Given the description of an element on the screen output the (x, y) to click on. 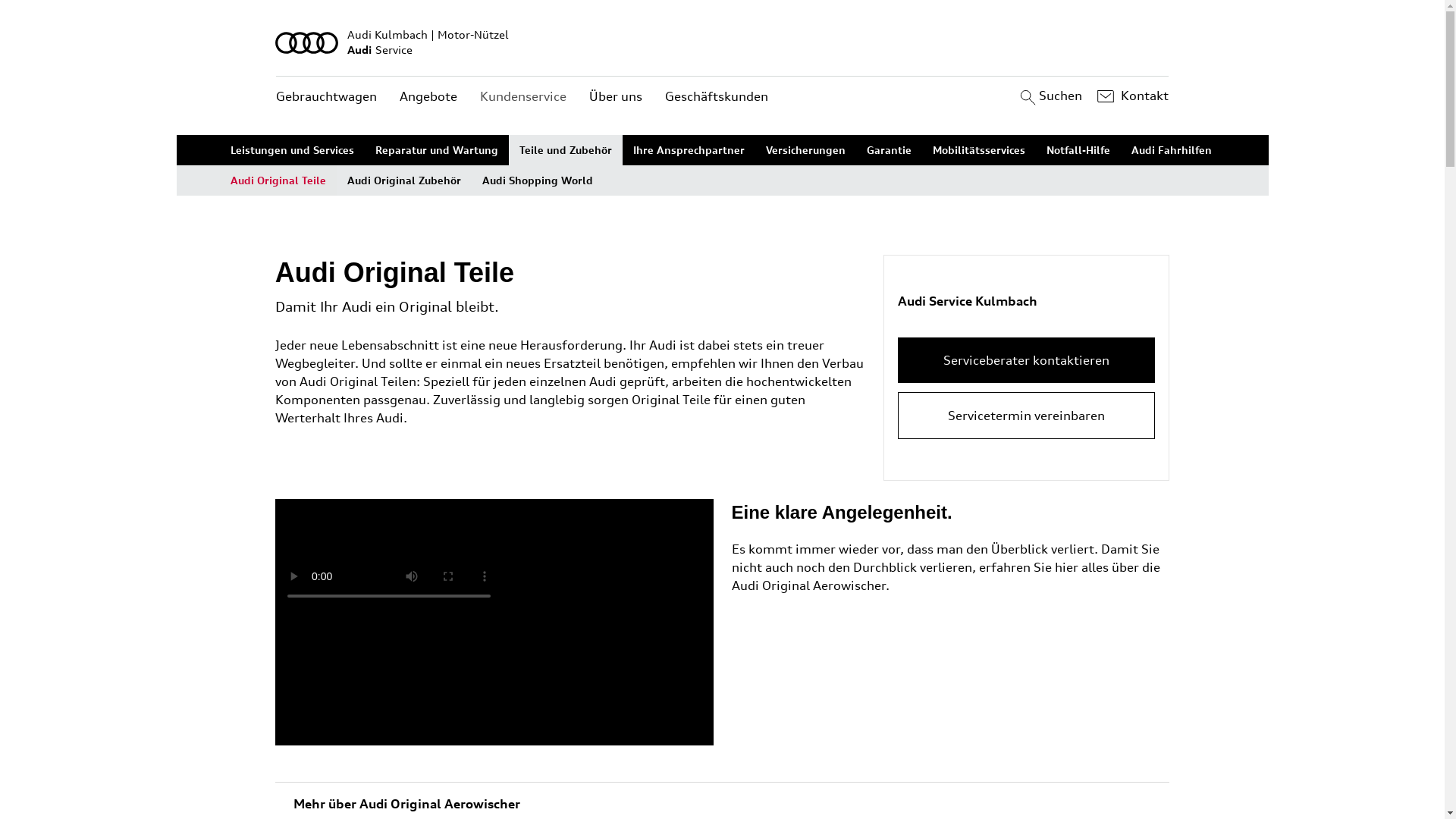
Ihre Ansprechpartner Element type: text (688, 149)
Kontakt Element type: text (1130, 96)
Leistungen und Services Element type: text (291, 149)
Gebrauchtwagen Element type: text (326, 96)
Reparatur und Wartung Element type: text (436, 149)
Notfall-Hilfe Element type: text (1077, 149)
Servicetermin vereinbaren Element type: text (1025, 415)
Garantie Element type: text (889, 149)
Suchen Element type: text (1049, 96)
Versicherungen Element type: text (805, 149)
Kundenservice Element type: text (523, 96)
Audi Shopping World Element type: text (537, 180)
Audi Fahrhilfen Element type: text (1171, 149)
Angebote Element type: text (428, 96)
Audi Original Teile Element type: text (277, 180)
Serviceberater kontaktieren Element type: text (1025, 359)
